Given the description of an element on the screen output the (x, y) to click on. 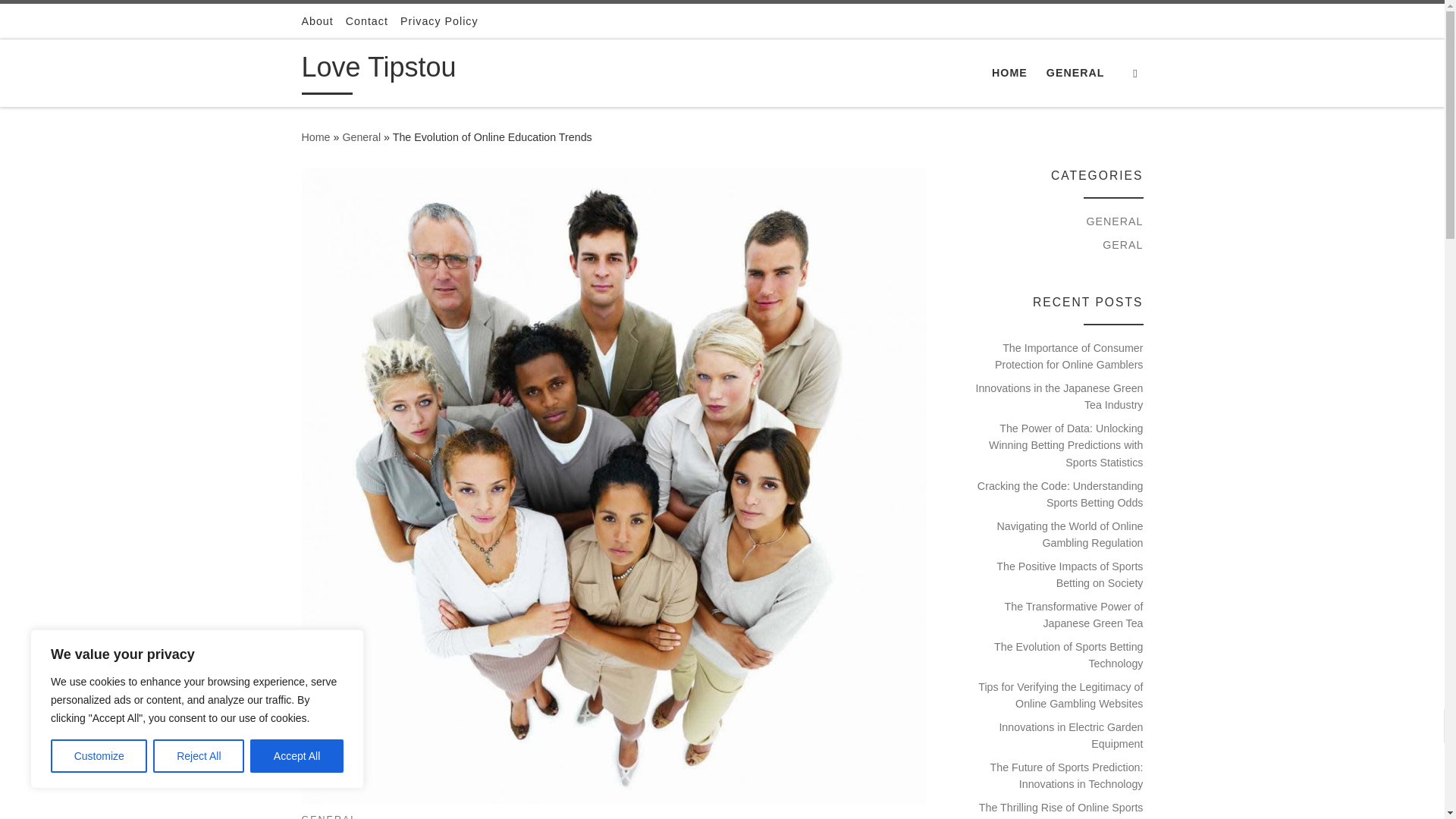
Customize (98, 756)
Love Tipstou (315, 137)
General (361, 137)
View all posts in General (329, 816)
Contact (366, 21)
Reject All (198, 756)
General (361, 137)
Privacy Policy (439, 21)
Home (315, 137)
Love Tipstou (379, 70)
About (317, 21)
Skip to content (60, 20)
GENERAL (1075, 72)
GENERAL (329, 816)
HOME (1009, 72)
